Given the description of an element on the screen output the (x, y) to click on. 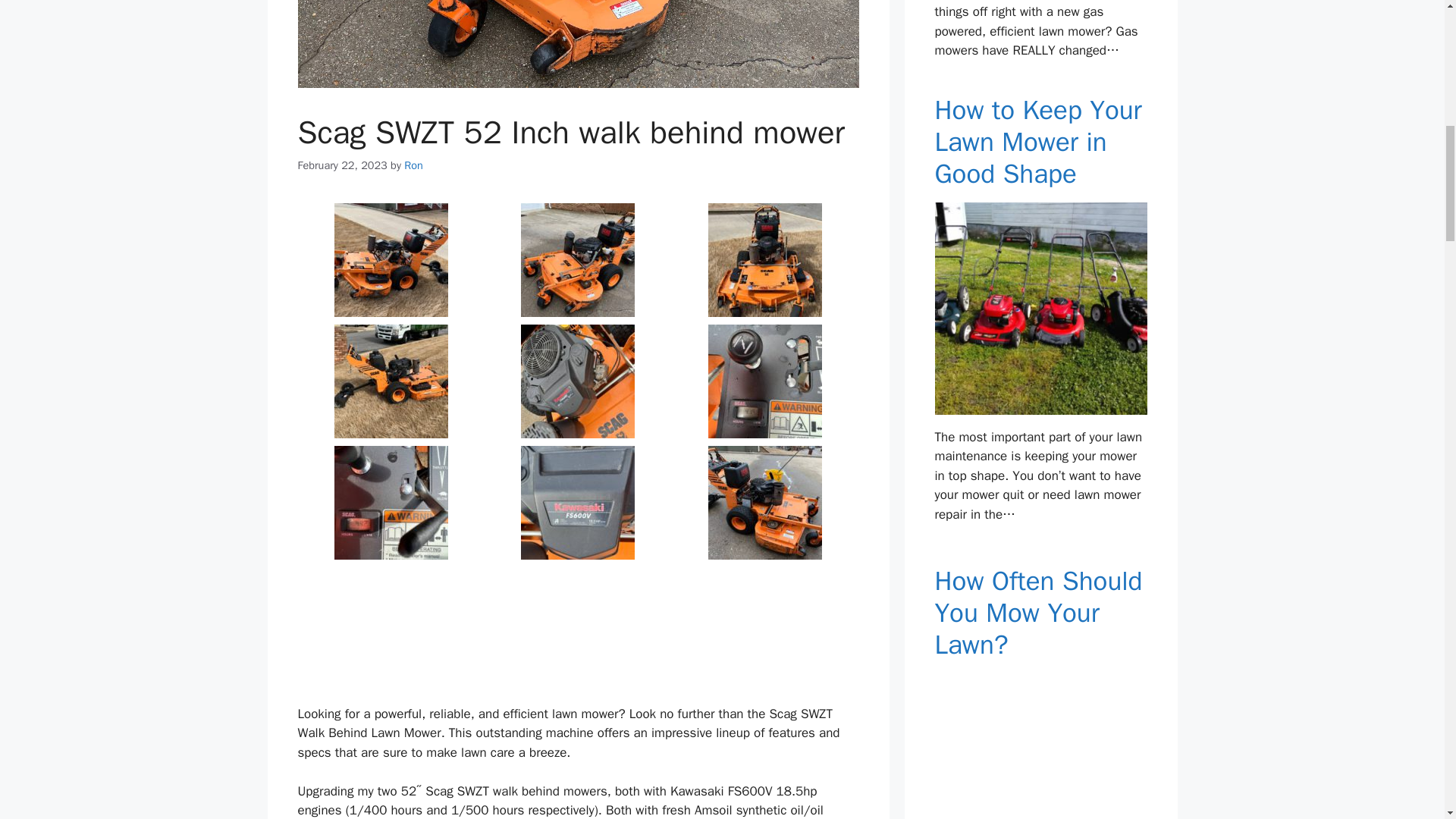
Scag SWZT 52 Inch walk behind mower (577, 259)
Scag SWZT 52 Inch walk behind mower (577, 381)
Scag SWZT 52 Inch walk behind mower (764, 502)
View all posts by Ron (413, 164)
Scag SWZT 52 Inch walk behind mower (391, 381)
Scag SWZT 52 Inch walk behind mower (391, 502)
Scag SWZT 52 Inch walk behind mower (577, 502)
Scag SWZT 52 Inch walk behind mower (391, 259)
Scag SWZT 52 Inch walk behind mower (764, 259)
Scag SWZT 52 Inch walk behind mower (764, 381)
Scag SWZT 52 Inch walk behind mower (391, 623)
